Given the description of an element on the screen output the (x, y) to click on. 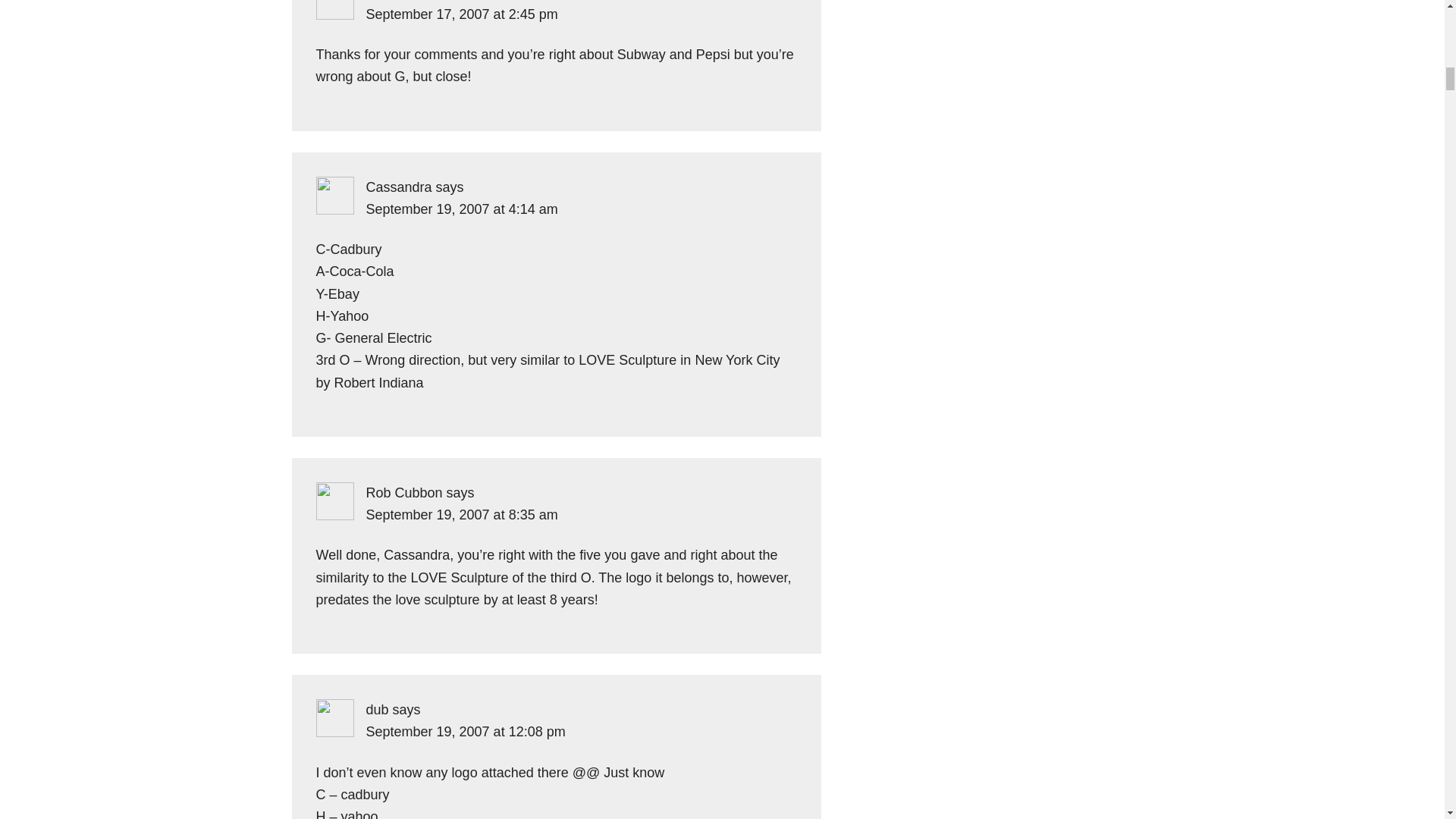
Rob Cubbon (403, 492)
September 19, 2007 at 12:08 pm (464, 731)
September 19, 2007 at 8:35 am (461, 514)
September 17, 2007 at 2:45 pm (461, 14)
September 19, 2007 at 4:14 am (461, 209)
dub (376, 709)
